Given the description of an element on the screen output the (x, y) to click on. 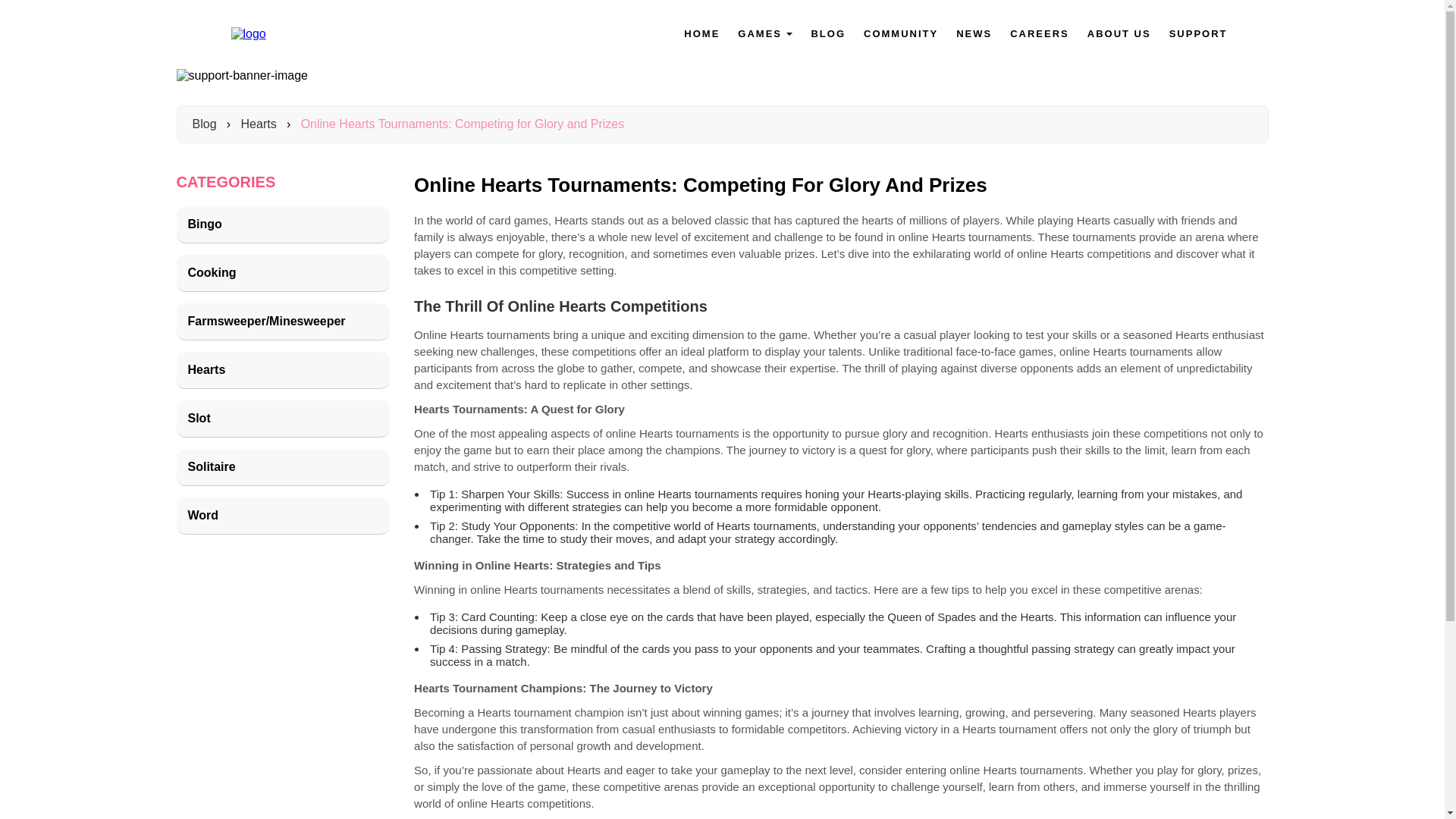
NEWS (973, 33)
CAREERS (1039, 33)
BLOG (827, 33)
Cooking (283, 272)
Slot (283, 418)
Hearts (283, 370)
Online Hearts Tournaments: Competing for Glory and Prizes (462, 123)
Solitaire (283, 467)
GAMES (759, 33)
Word (283, 515)
